Given the description of an element on the screen output the (x, y) to click on. 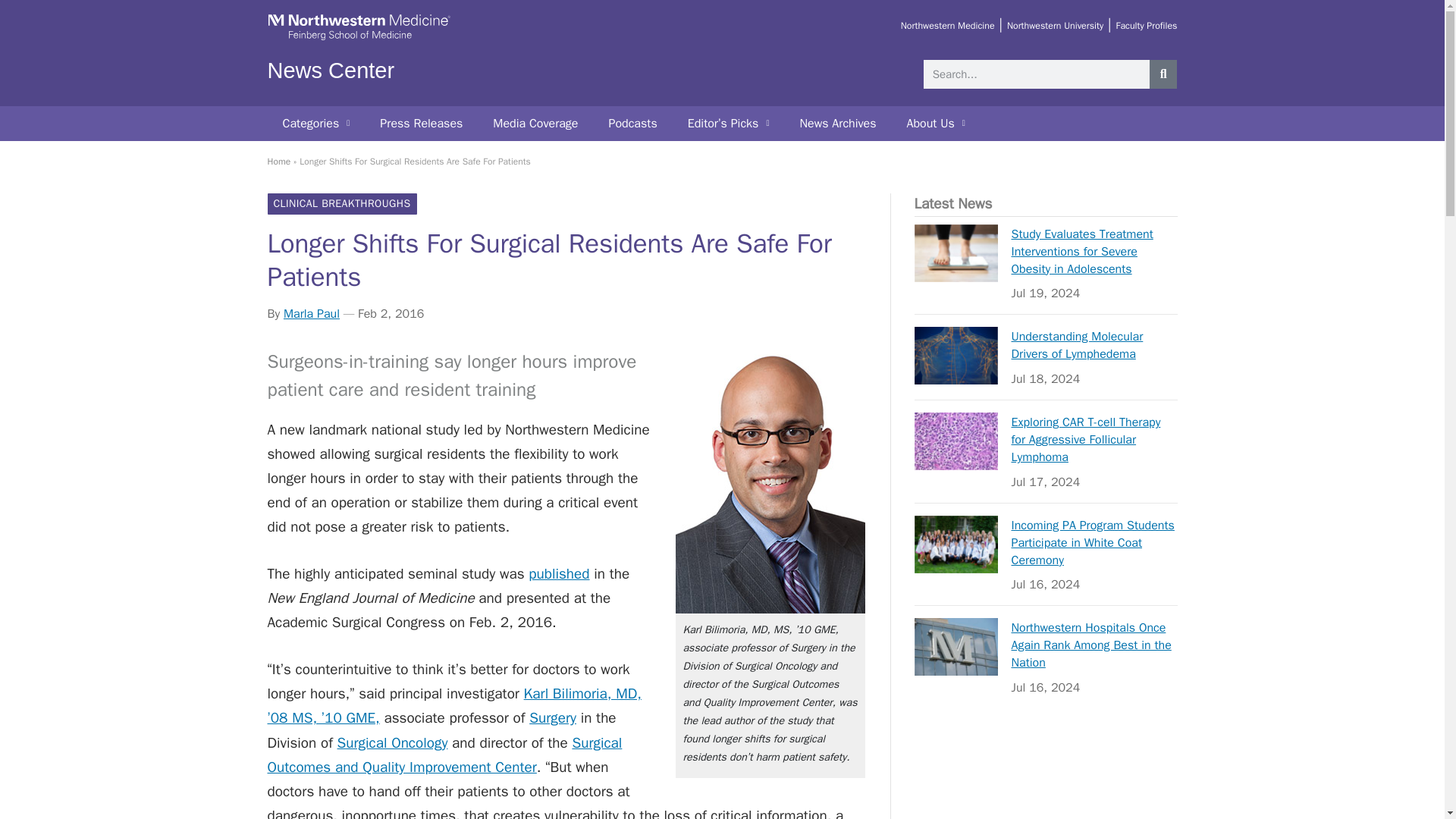
Podcasts (631, 123)
Media Coverage (534, 123)
Feinberg (357, 38)
Press Releases (421, 123)
Categories (315, 123)
Understanding Molecular Drivers of Lymphedema (955, 355)
News Center (330, 70)
Northwestern Medicine (947, 25)
Faculty Profiles (1145, 25)
Northwestern University (1055, 25)
News Archives (837, 123)
About Us (935, 123)
